Given the description of an element on the screen output the (x, y) to click on. 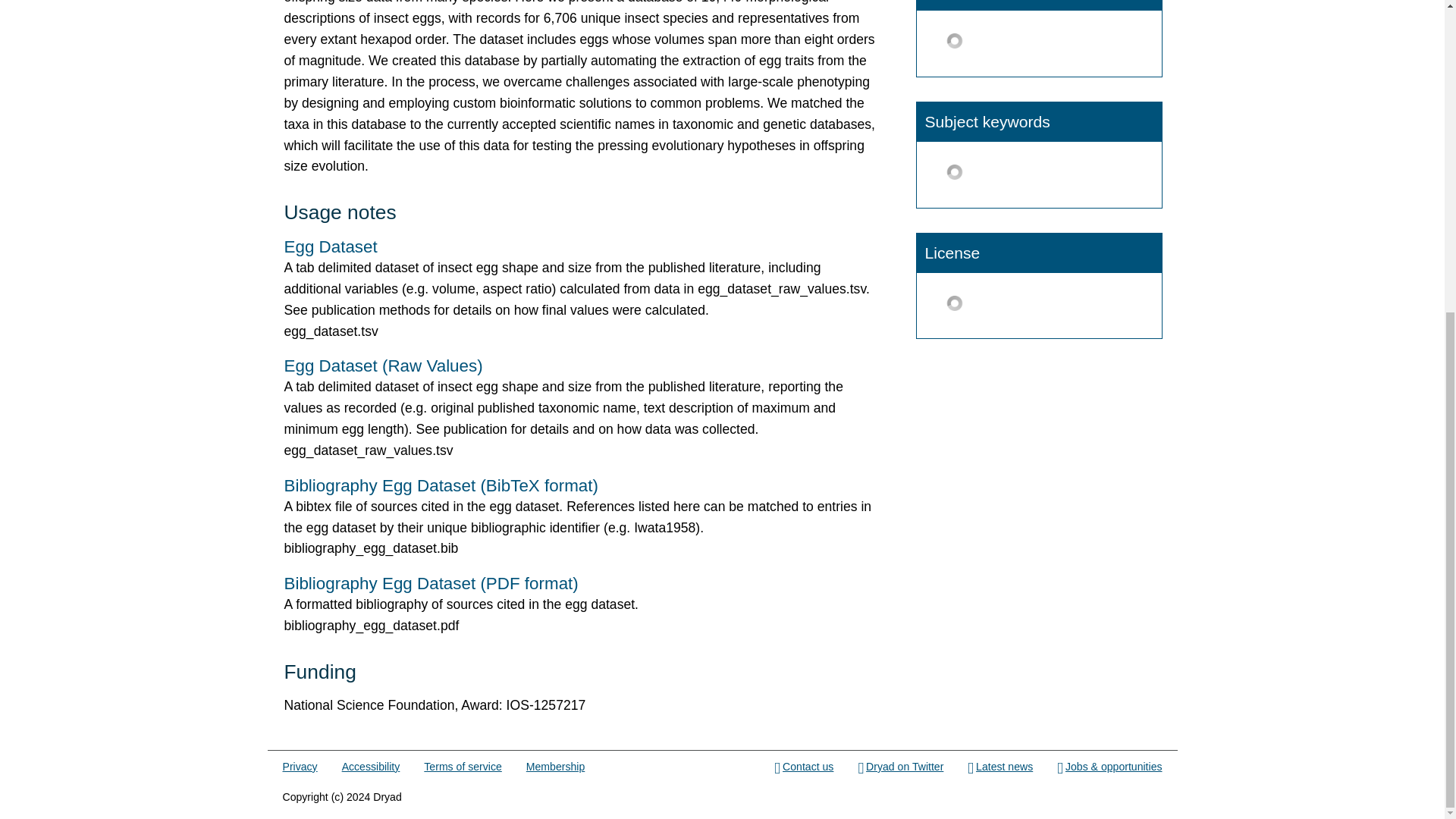
Terms of service (461, 767)
Privacy (299, 767)
Contact us (803, 767)
Membership (555, 767)
Accessibility (371, 767)
